Given the description of an element on the screen output the (x, y) to click on. 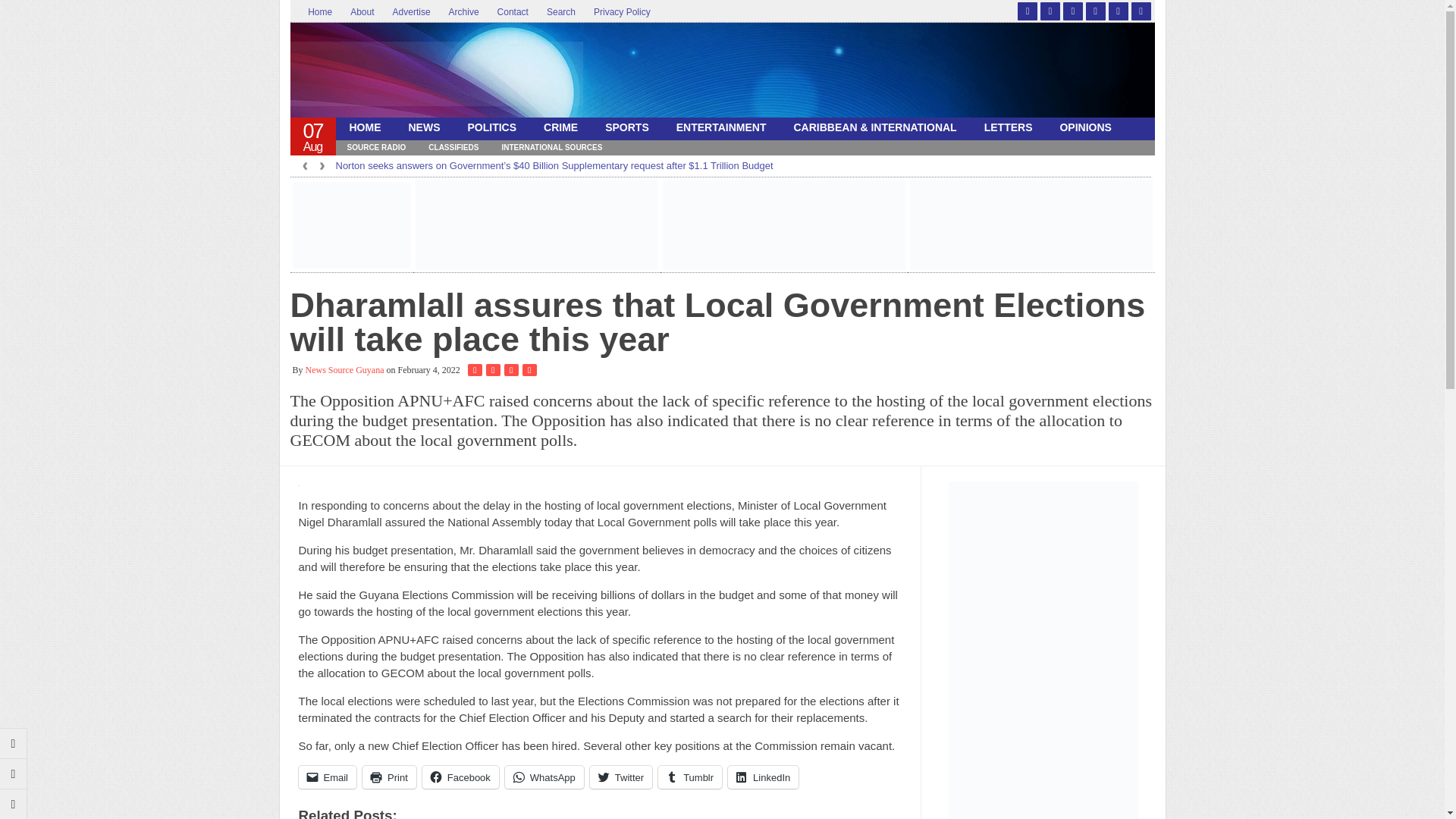
OPINIONS (1084, 127)
SOURCE RADIO (375, 147)
News Source Guyana (435, 73)
INTERNATIONAL SOURCES (550, 147)
SPORTS (626, 127)
About (361, 12)
  Home (318, 12)
Contact (512, 12)
ENTERTAINMENT (721, 127)
POLITICS (490, 127)
Next post: Forde sounds alarm on  (13, 773)
HOME (364, 127)
CLASSIFIEDS (452, 147)
Search (561, 12)
